Given the description of an element on the screen output the (x, y) to click on. 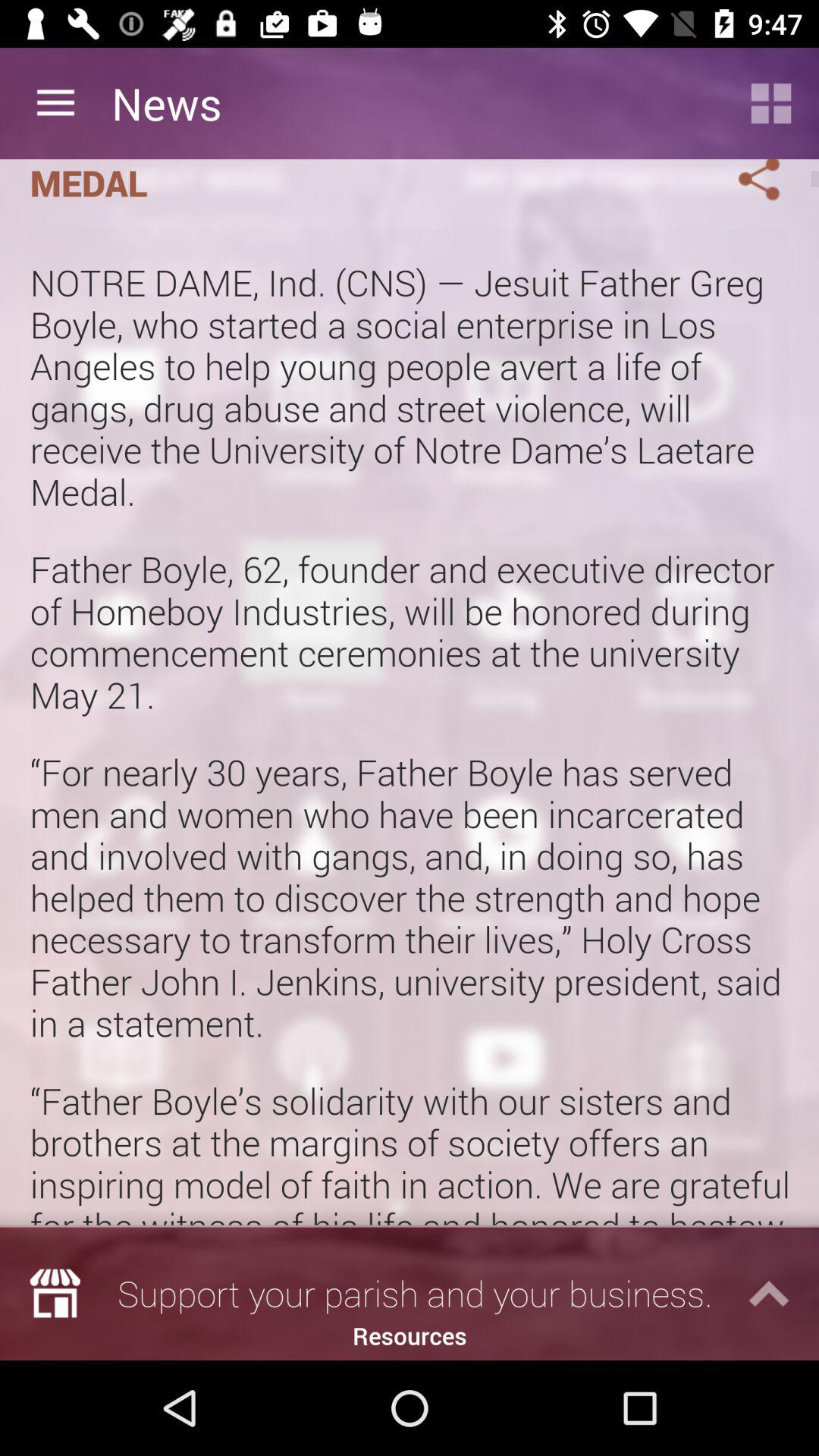
open the item next to news (55, 103)
